Given the description of an element on the screen output the (x, y) to click on. 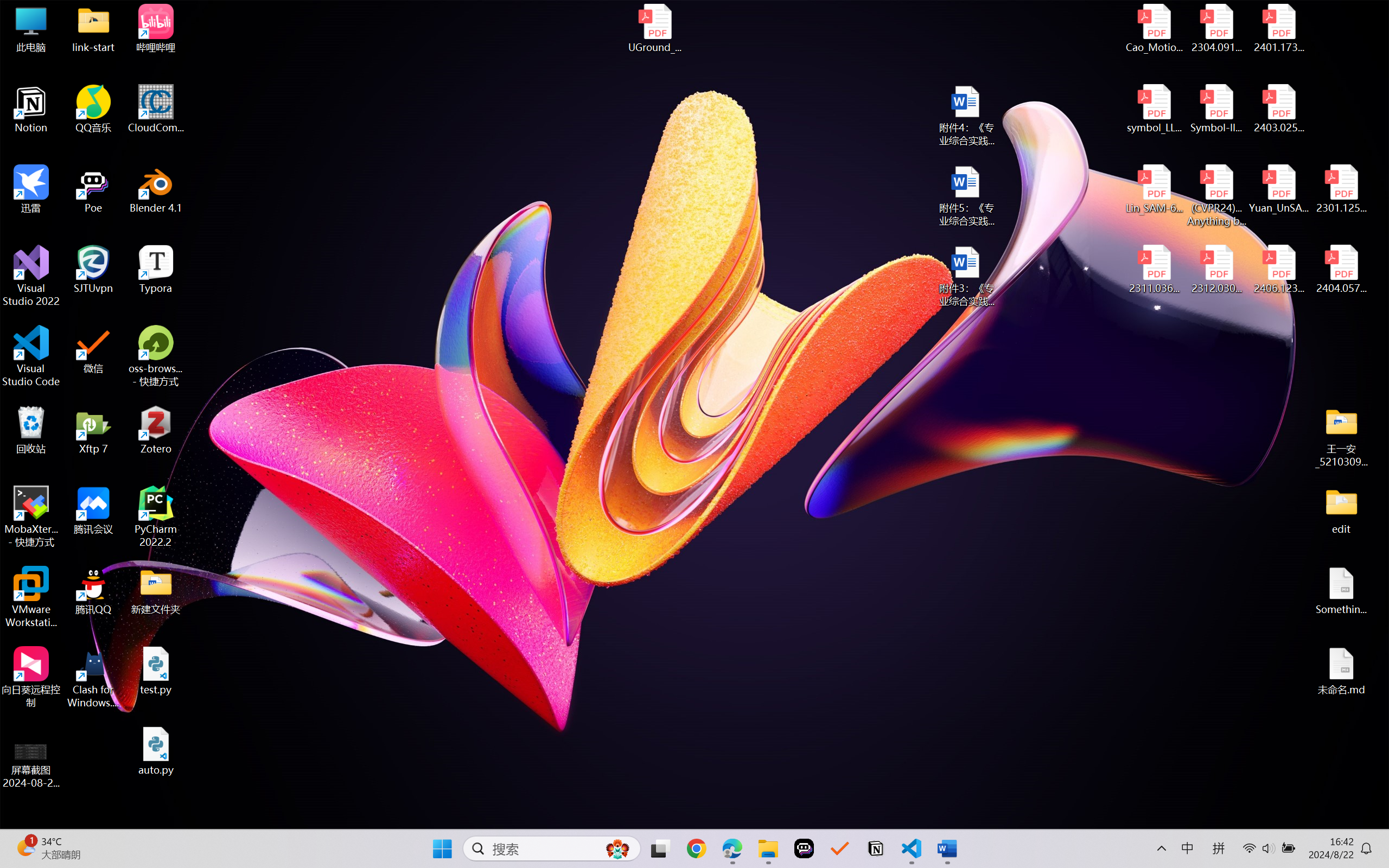
Visual Studio 2022 (31, 276)
2304.09121v3.pdf (1216, 28)
2401.17399v1.pdf (1278, 28)
UGround_paper.pdf (654, 28)
2312.03032v2.pdf (1216, 269)
Something.md (1340, 591)
